Given the description of an element on the screen output the (x, y) to click on. 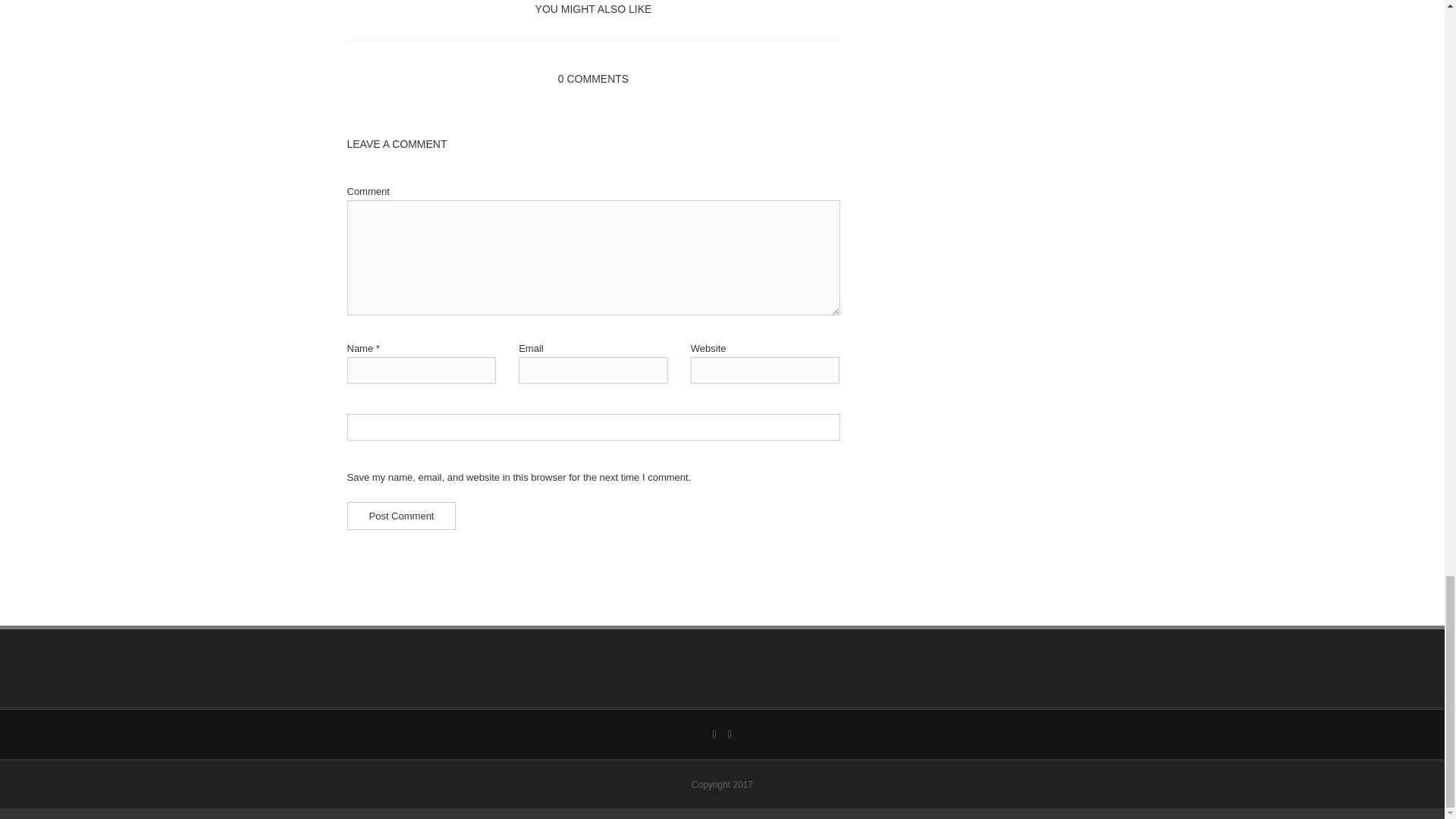
yes (593, 427)
Post Comment (402, 515)
Post Comment (402, 515)
